Given the description of an element on the screen output the (x, y) to click on. 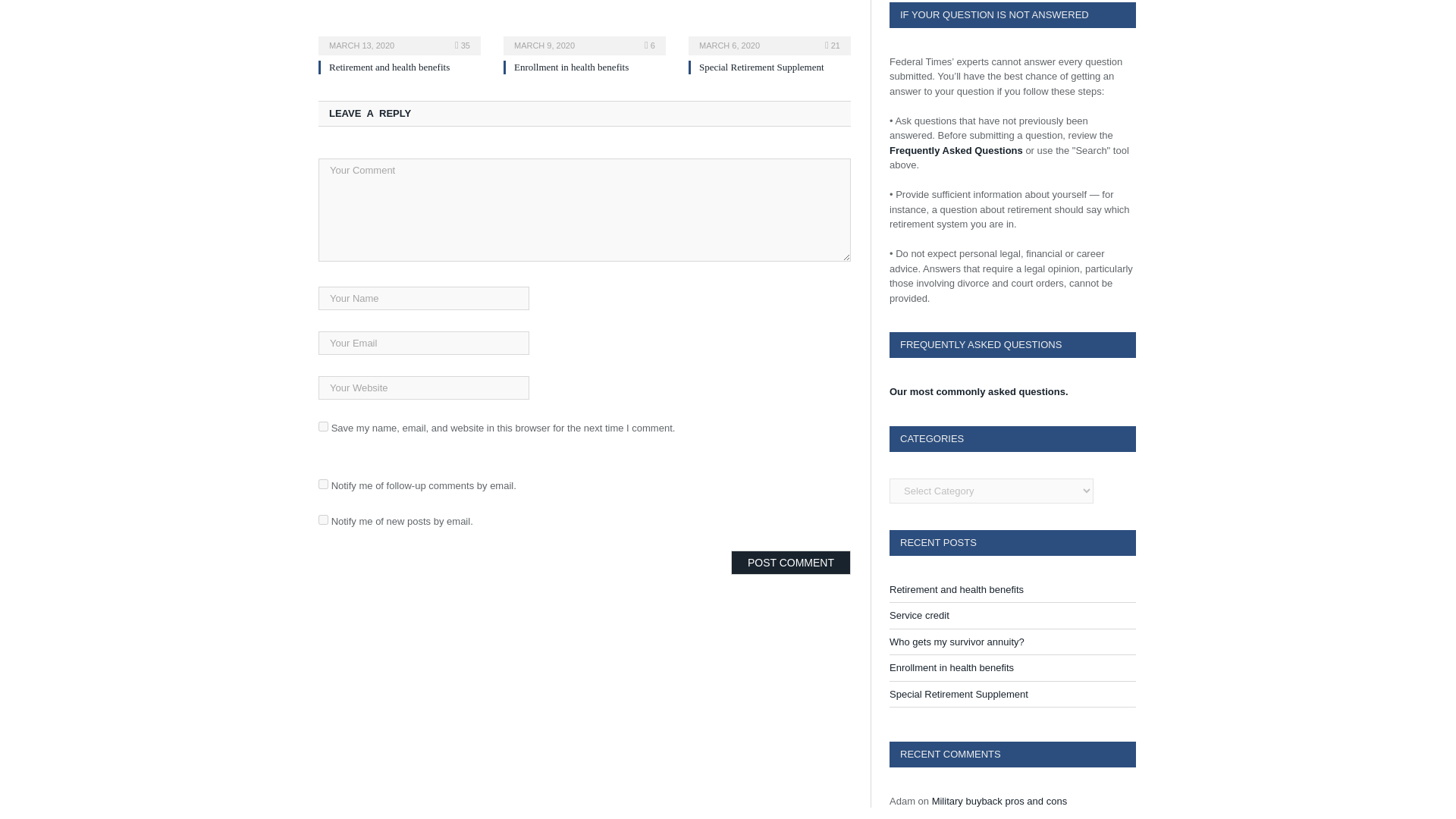
yes (323, 426)
subscribe (323, 483)
subscribe (323, 519)
Retirement and health benefits (399, 35)
Post Comment (790, 562)
